Given the description of an element on the screen output the (x, y) to click on. 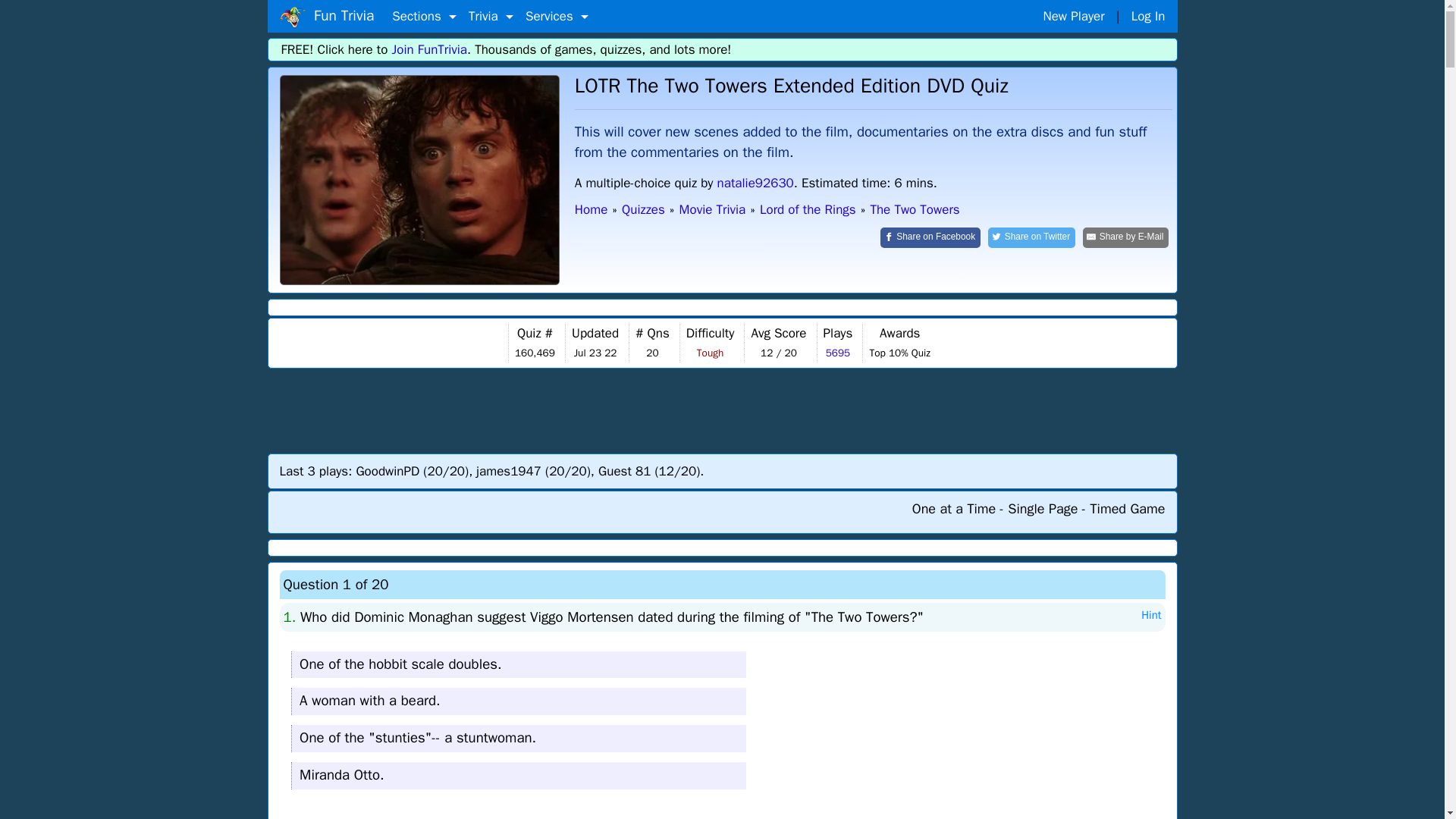
Sections (424, 16)
Fun Trivia (419, 180)
Trivia (491, 16)
Services (556, 16)
Advertisement (722, 409)
Home (291, 16)
  Fun Trivia (326, 15)
